Given the description of an element on the screen output the (x, y) to click on. 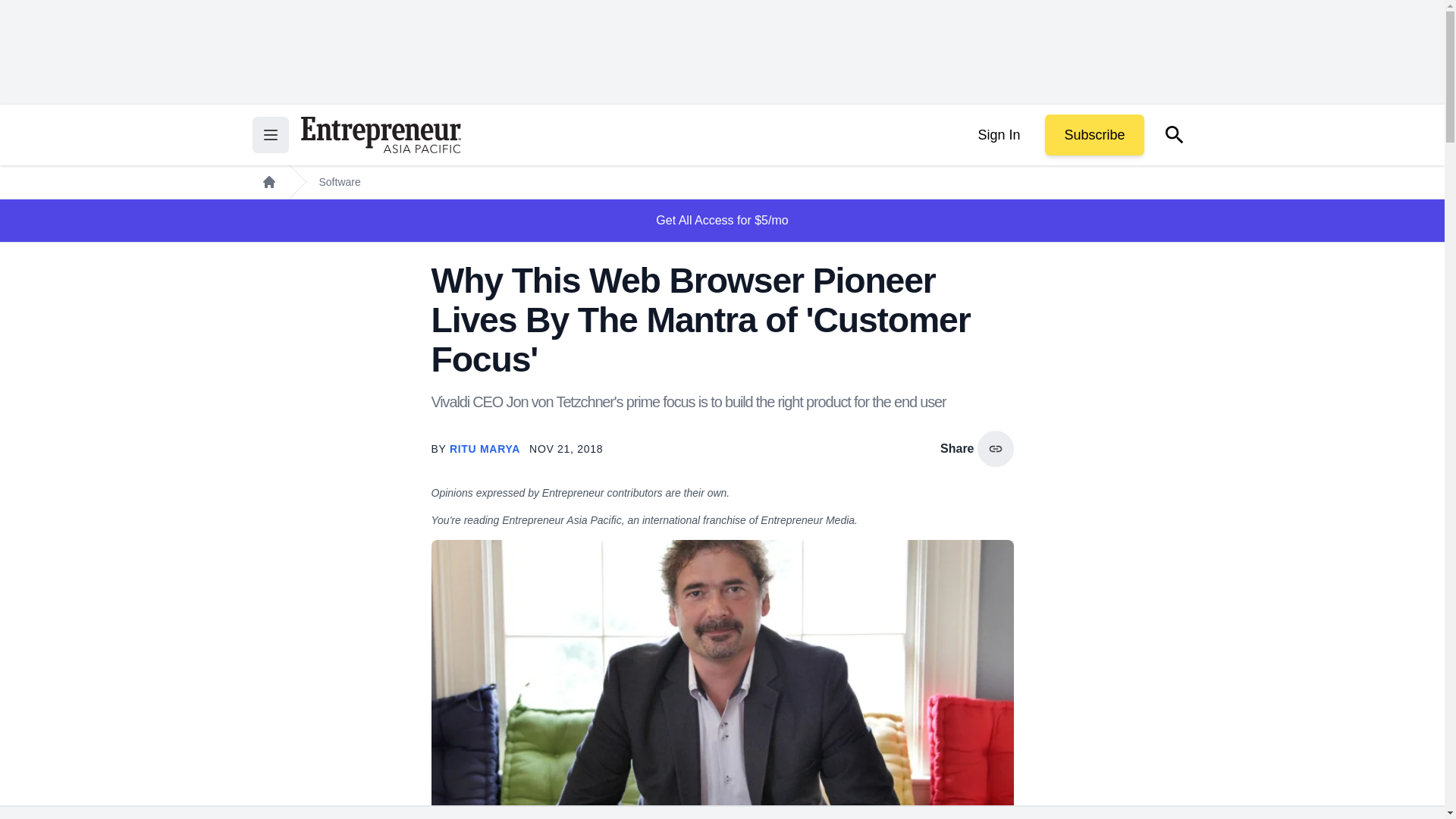
Subscribe (1093, 134)
Return to the home page (380, 135)
copy (994, 448)
Sign In (998, 134)
